Given the description of an element on the screen output the (x, y) to click on. 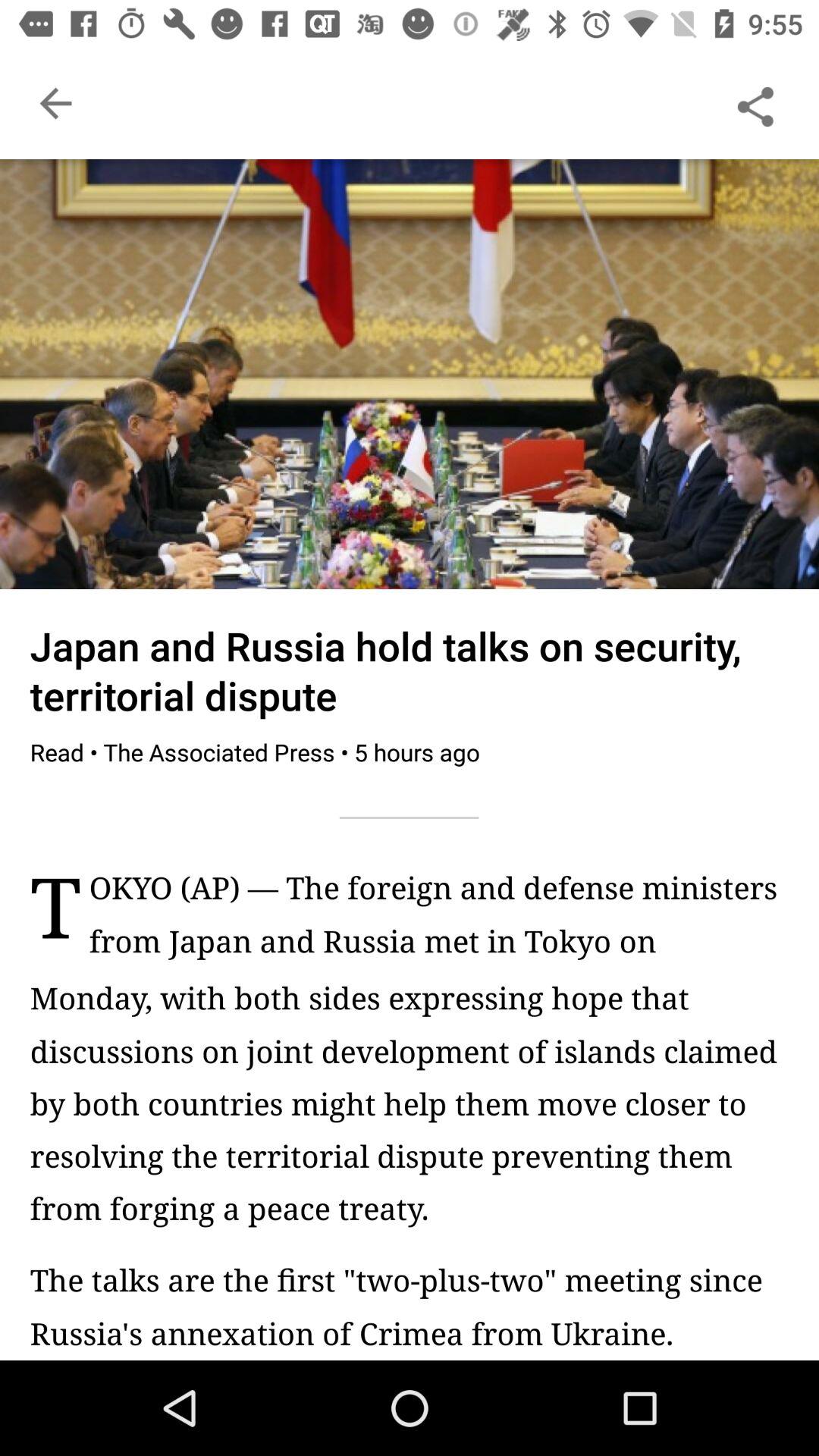
turn on the item above the talks are icon (409, 1102)
